Given the description of an element on the screen output the (x, y) to click on. 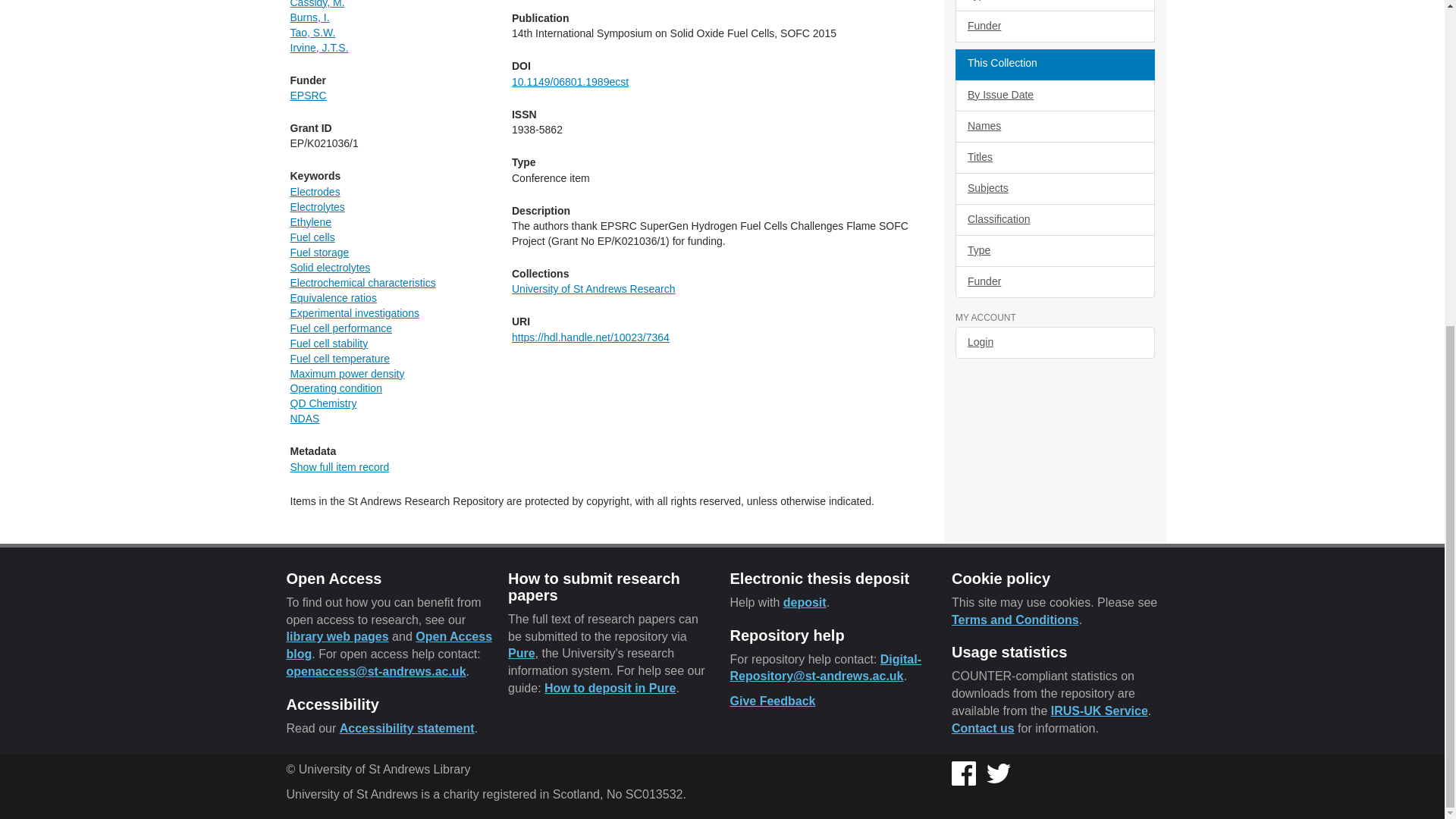
Electrolytes (316, 206)
Ethylene (309, 222)
University of St Andrews Library Open Access web pages (337, 635)
Electrodes (314, 191)
Equivalence ratios (332, 297)
Fuel cell performance (340, 328)
Experimental investigations (354, 313)
Electrochemical characteristics (362, 282)
Fuel storage (319, 252)
Email an enquiry about IRUS-UK statistics (983, 727)
Cassidy, M. (316, 4)
Fuel cells (311, 236)
Burns, I. (309, 17)
IRUS-UK Service (1099, 710)
